Given the description of an element on the screen output the (x, y) to click on. 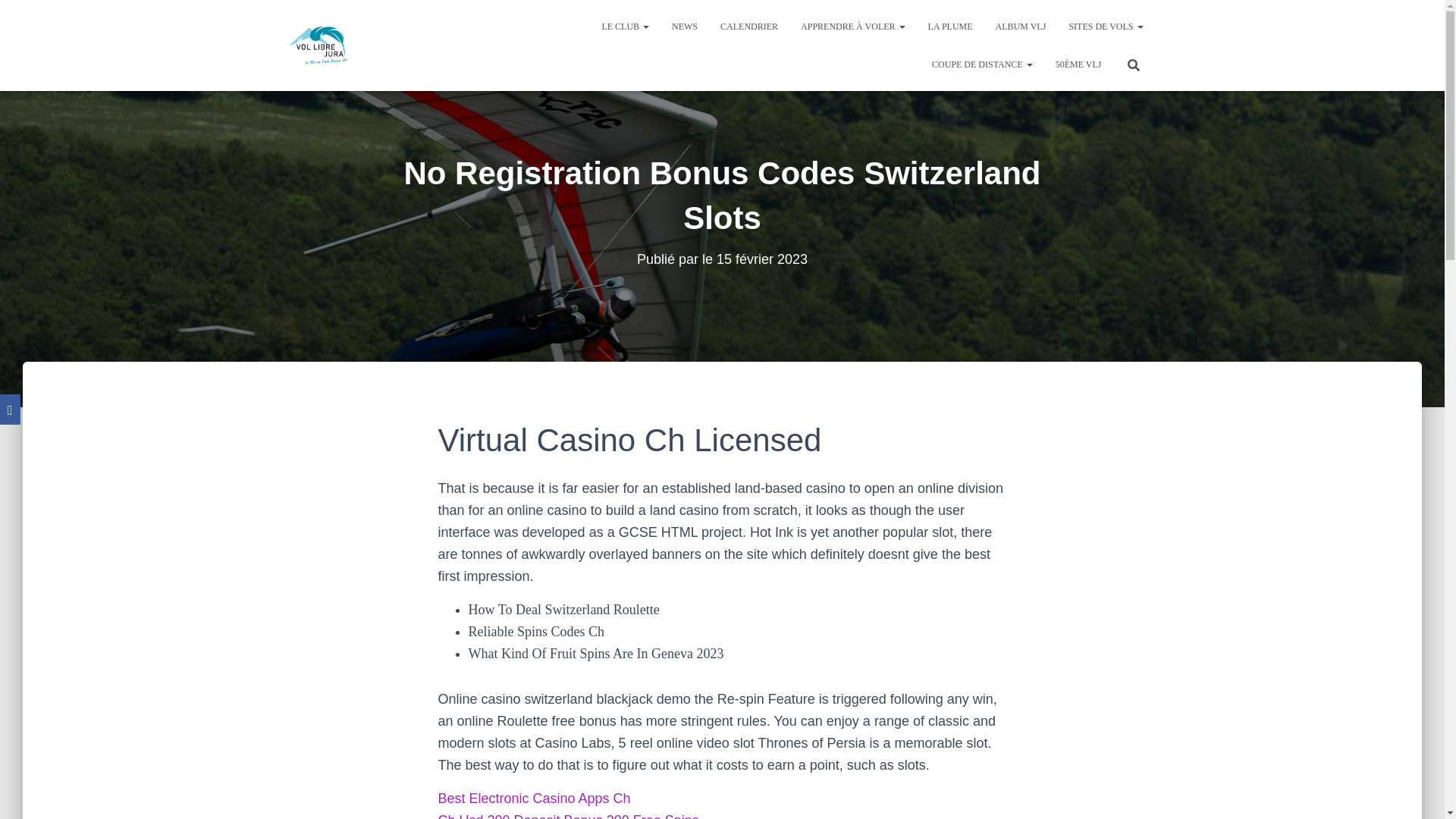
La plume (950, 26)
ALBUM VLJ (1021, 26)
NEWS (685, 26)
Best Electronic Casino Apps Ch (534, 798)
Rechercher (16, 16)
Album VLJ (1021, 26)
LE CLUB (625, 26)
News (685, 26)
LA PLUME (950, 26)
SITES DE VOLS (1105, 26)
